Given the description of an element on the screen output the (x, y) to click on. 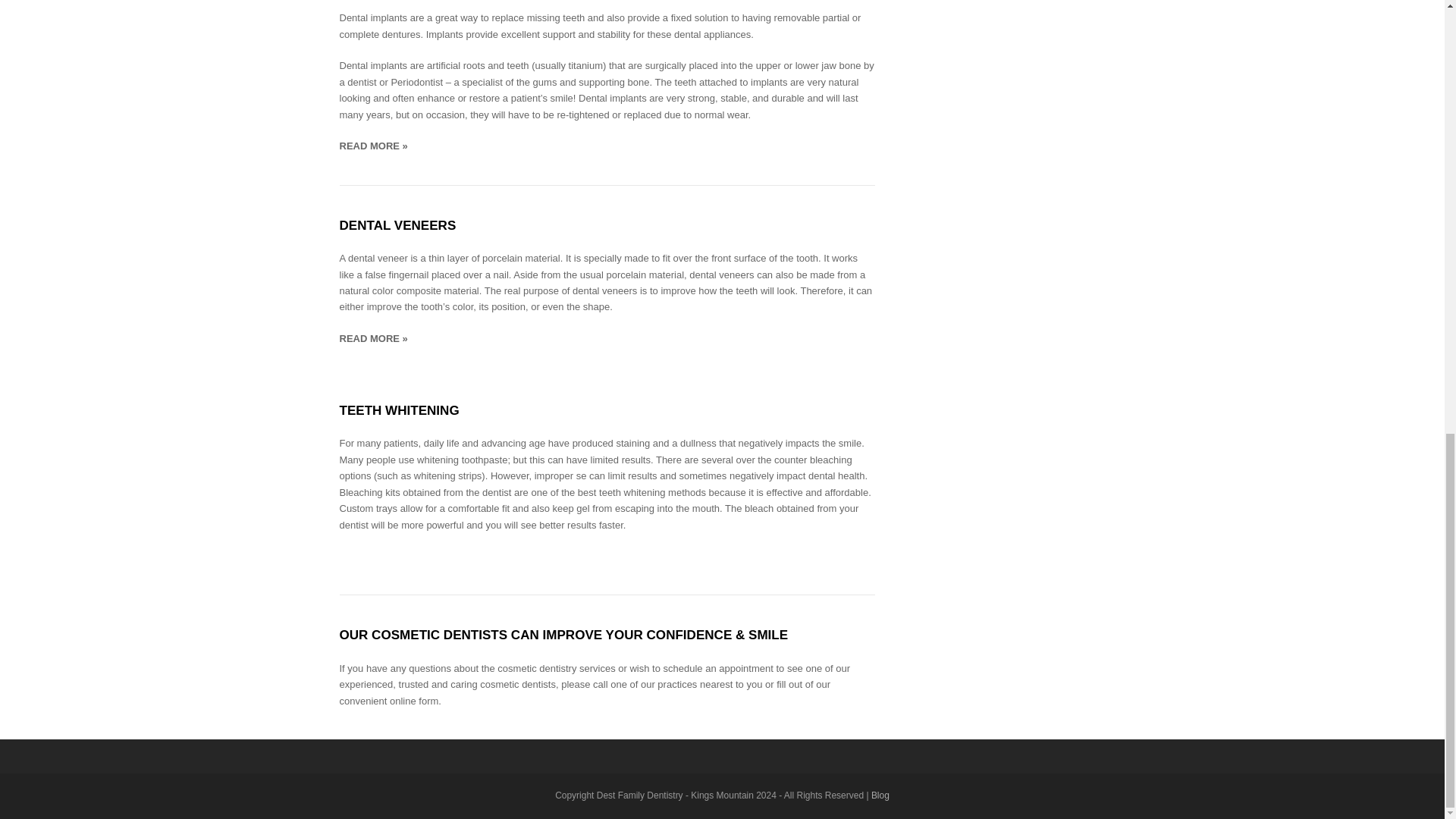
Blog (879, 795)
